Given the description of an element on the screen output the (x, y) to click on. 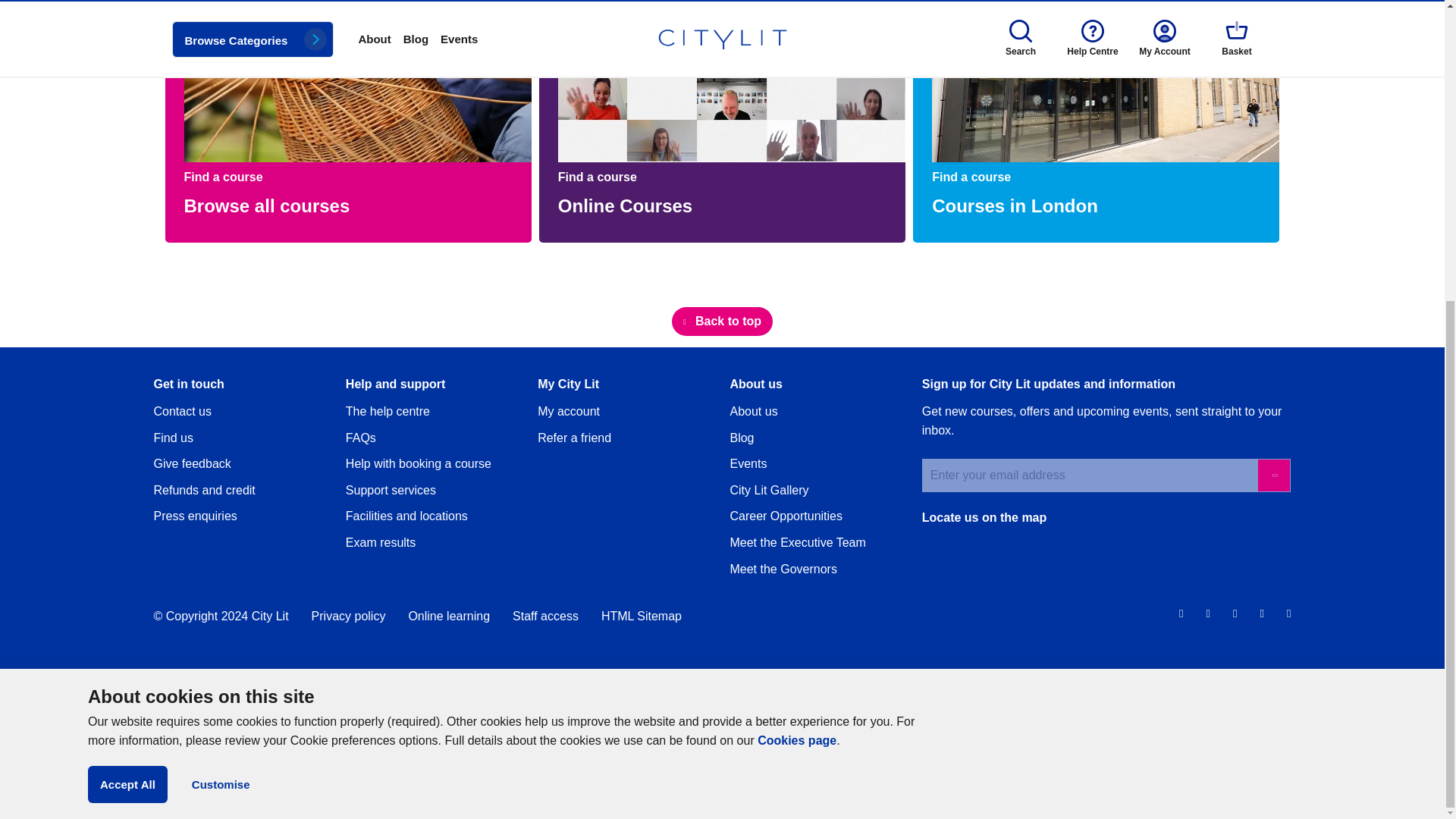
Find category or product page (641, 615)
Browse all online courses (625, 205)
Browse courses in London (1014, 205)
Browse all courses (266, 205)
Subscribe (1273, 475)
